Given the description of an element on the screen output the (x, y) to click on. 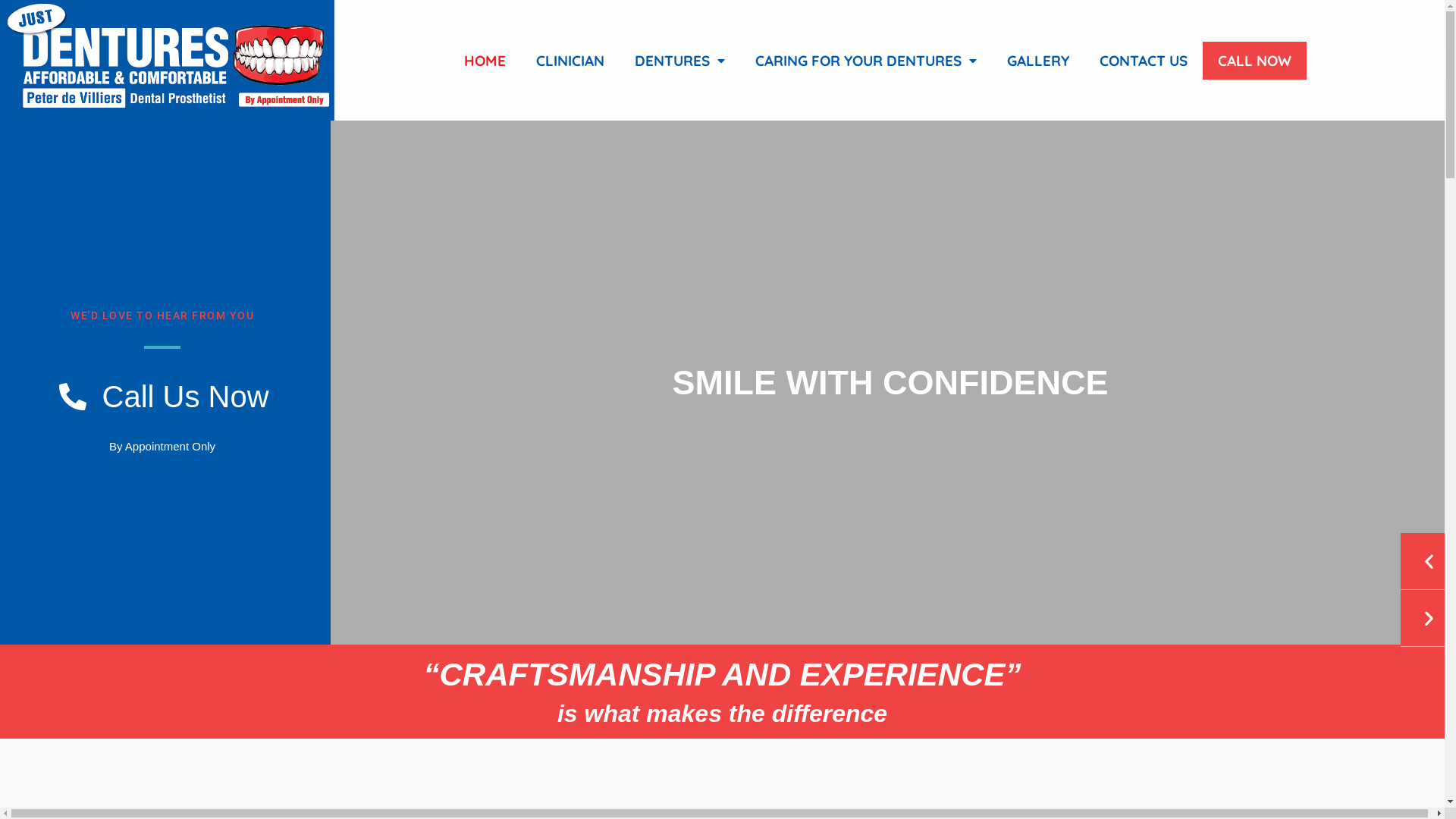
DENTURES Element type: text (679, 60)
Call Us Now Element type: text (161, 396)
GALLERY Element type: text (1037, 60)
CALL NOW Element type: text (1254, 60)
HOME Element type: text (484, 60)
CLINICIAN Element type: text (569, 60)
CONTACT US Element type: text (1143, 60)
CARING FOR YOUR DENTURES Element type: text (865, 60)
